Given the description of an element on the screen output the (x, y) to click on. 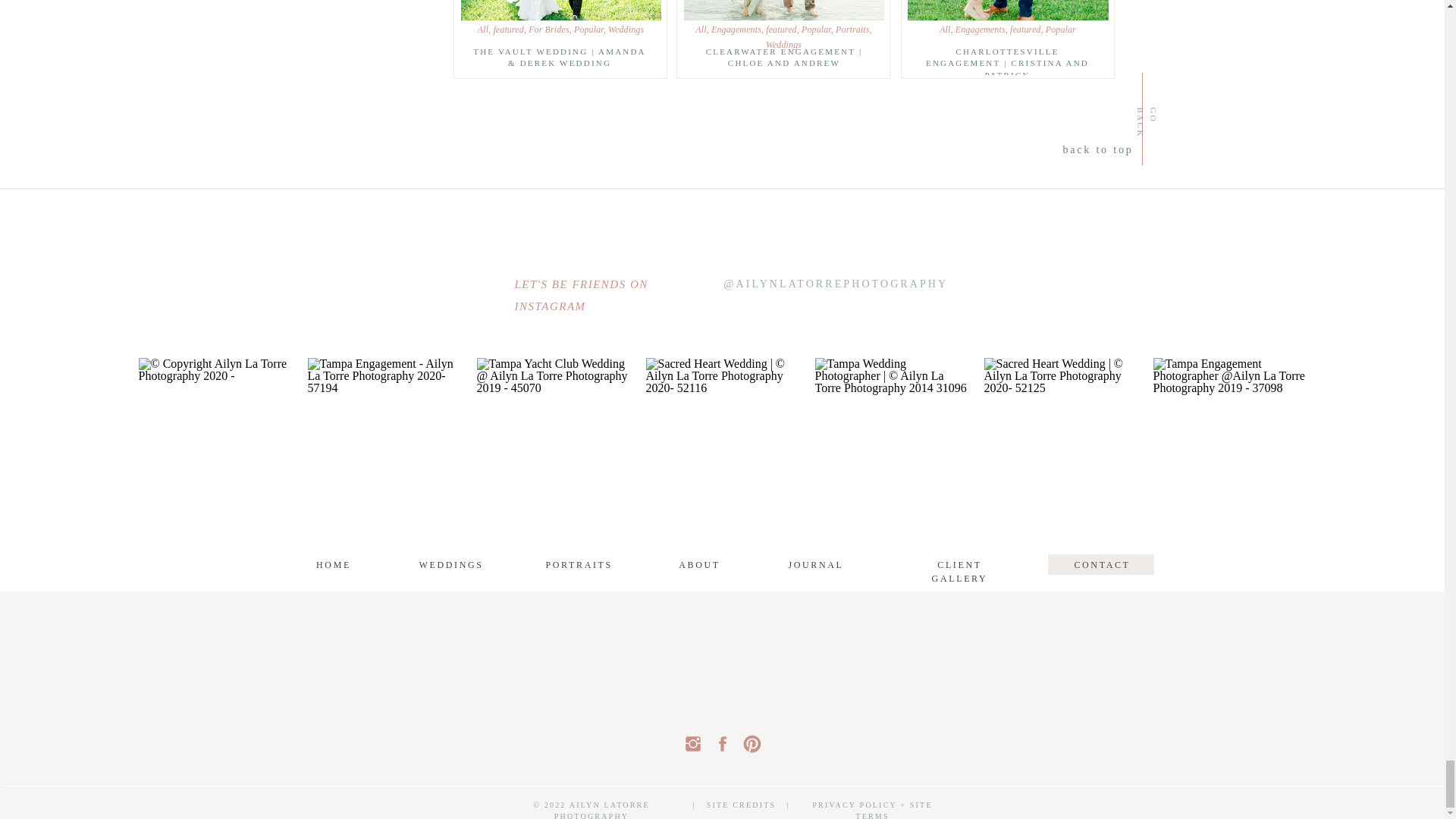
All (482, 29)
